Given the description of an element on the screen output the (x, y) to click on. 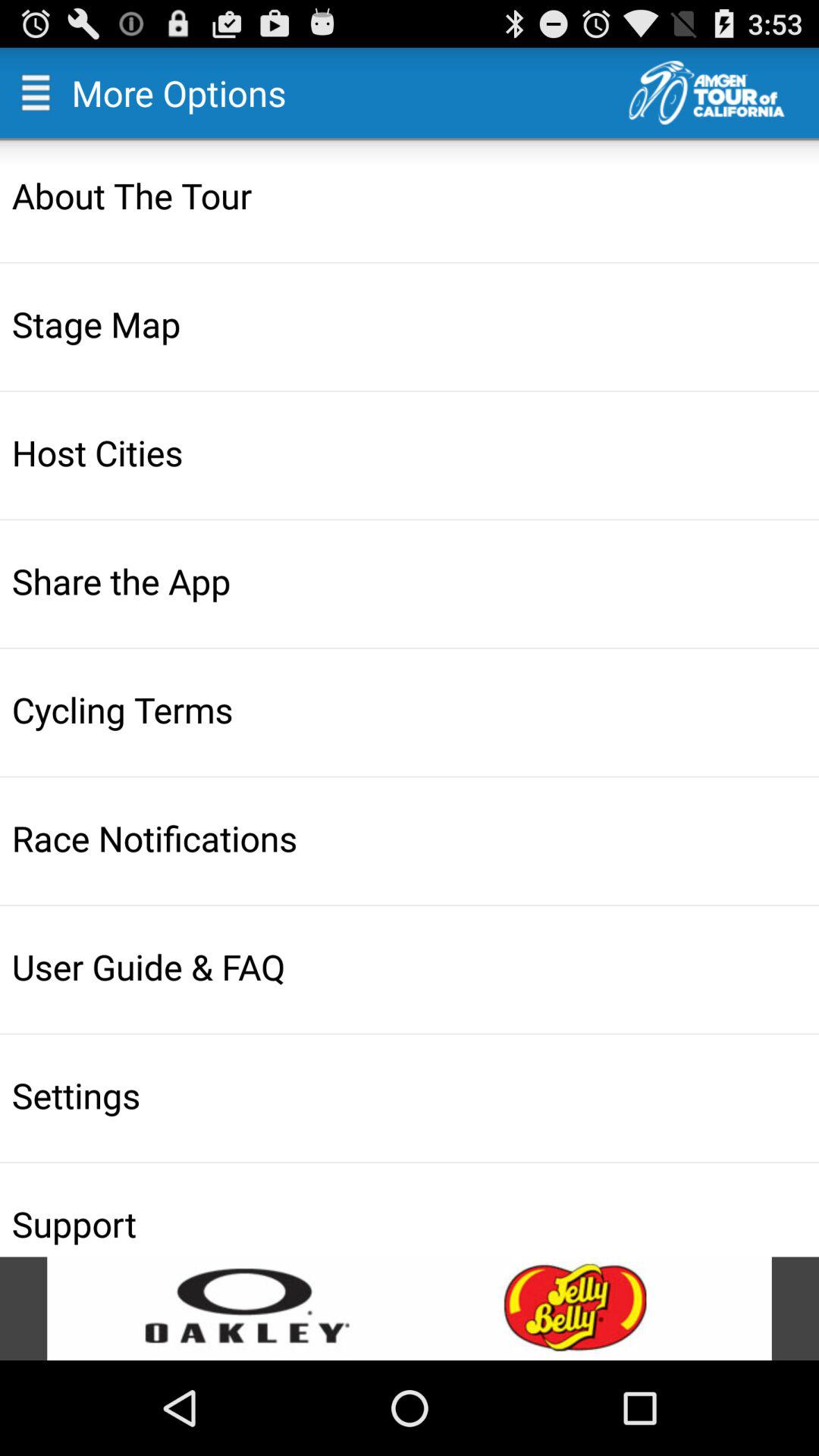
go to home page (724, 92)
